Given the description of an element on the screen output the (x, y) to click on. 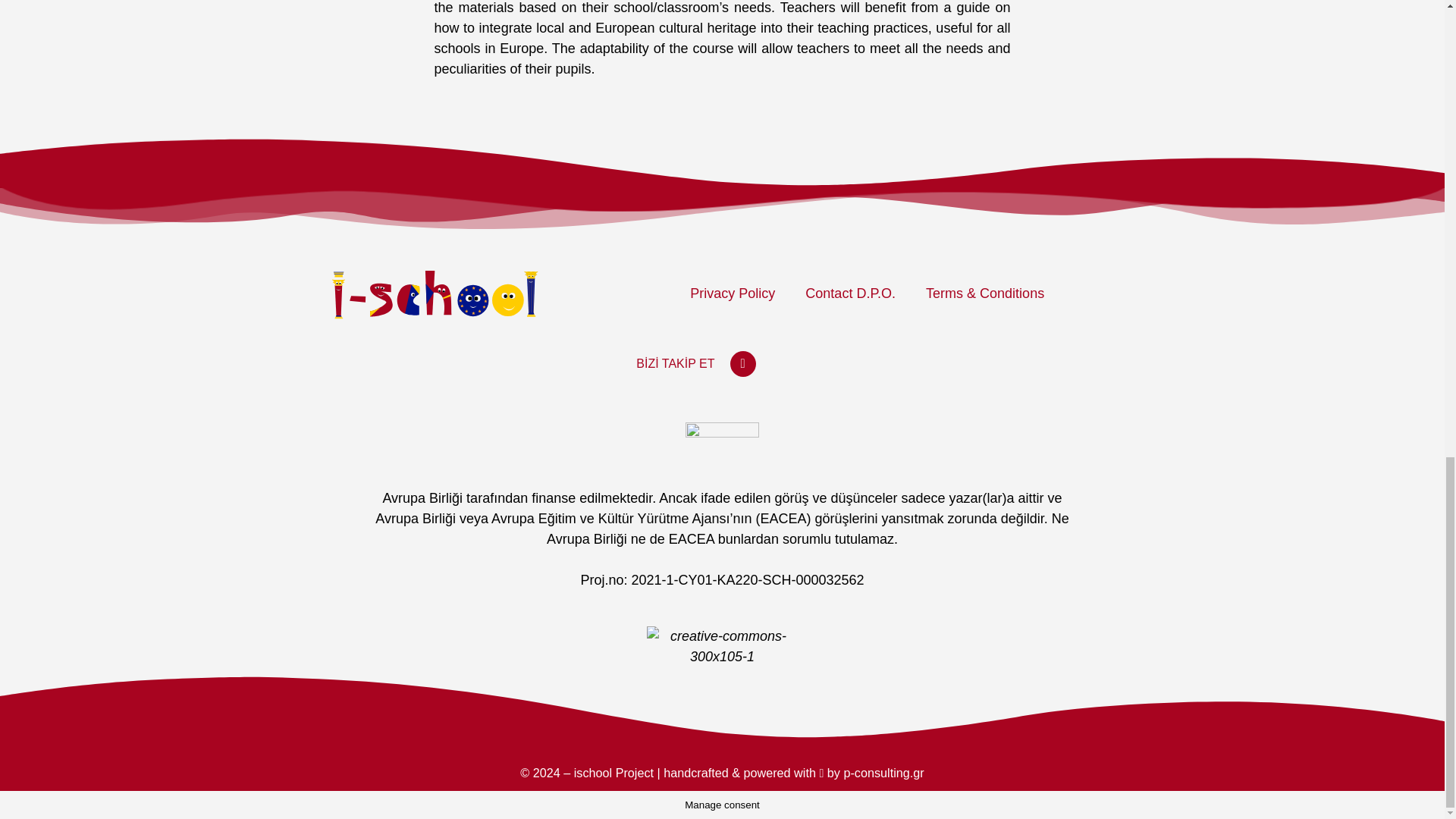
Contact D.P.O. (850, 293)
Privacy Policy (732, 293)
